Given the description of an element on the screen output the (x, y) to click on. 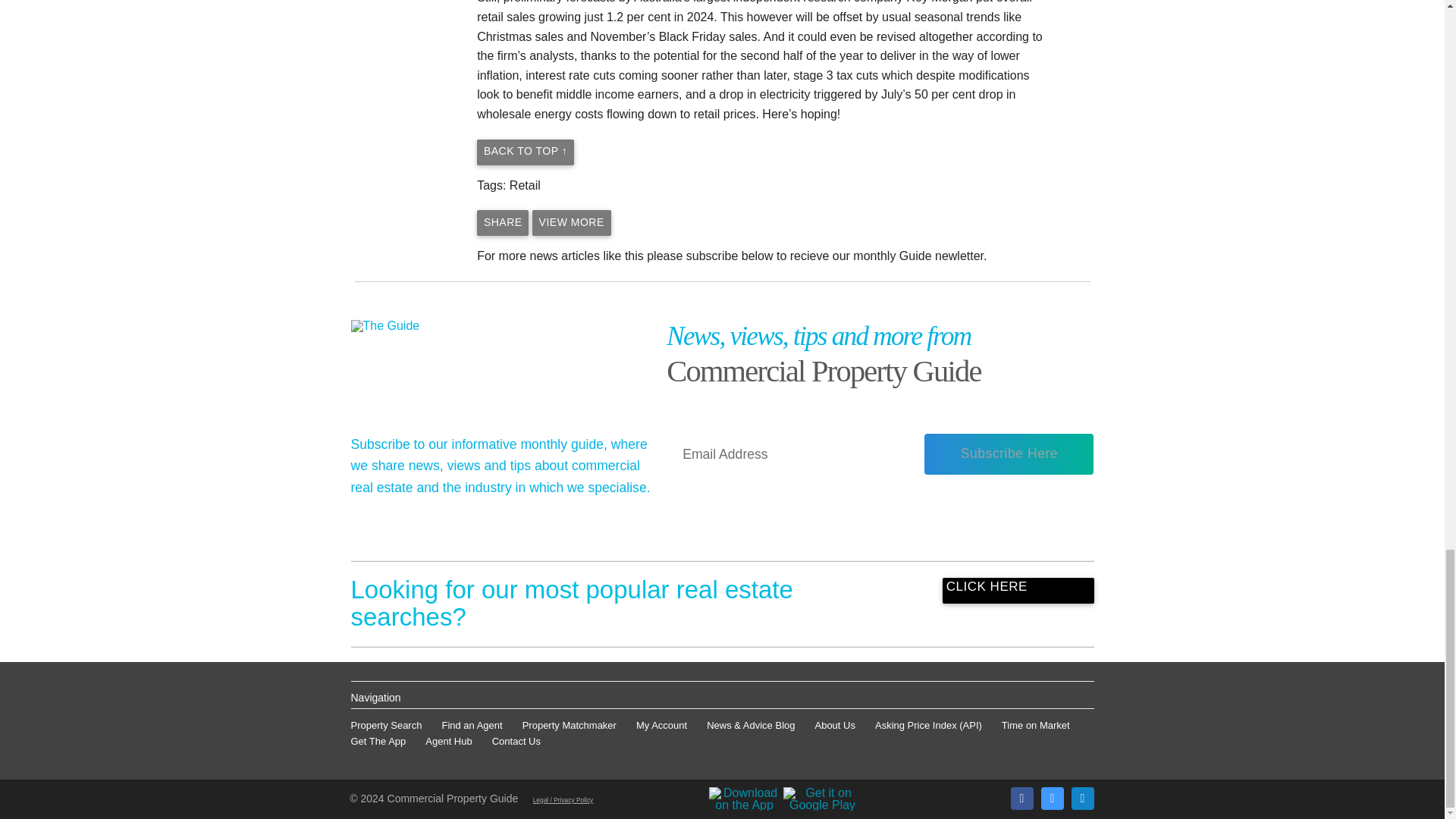
Like us on Facebook (1021, 798)
VIEW MORE (571, 222)
Go back to top (525, 152)
SHARE (502, 222)
Connect with us on LinkedIn (1081, 798)
Follow us on Twitter (1051, 798)
Subscribe Here (1008, 454)
CLICK HERE (1017, 590)
